Given the description of an element on the screen output the (x, y) to click on. 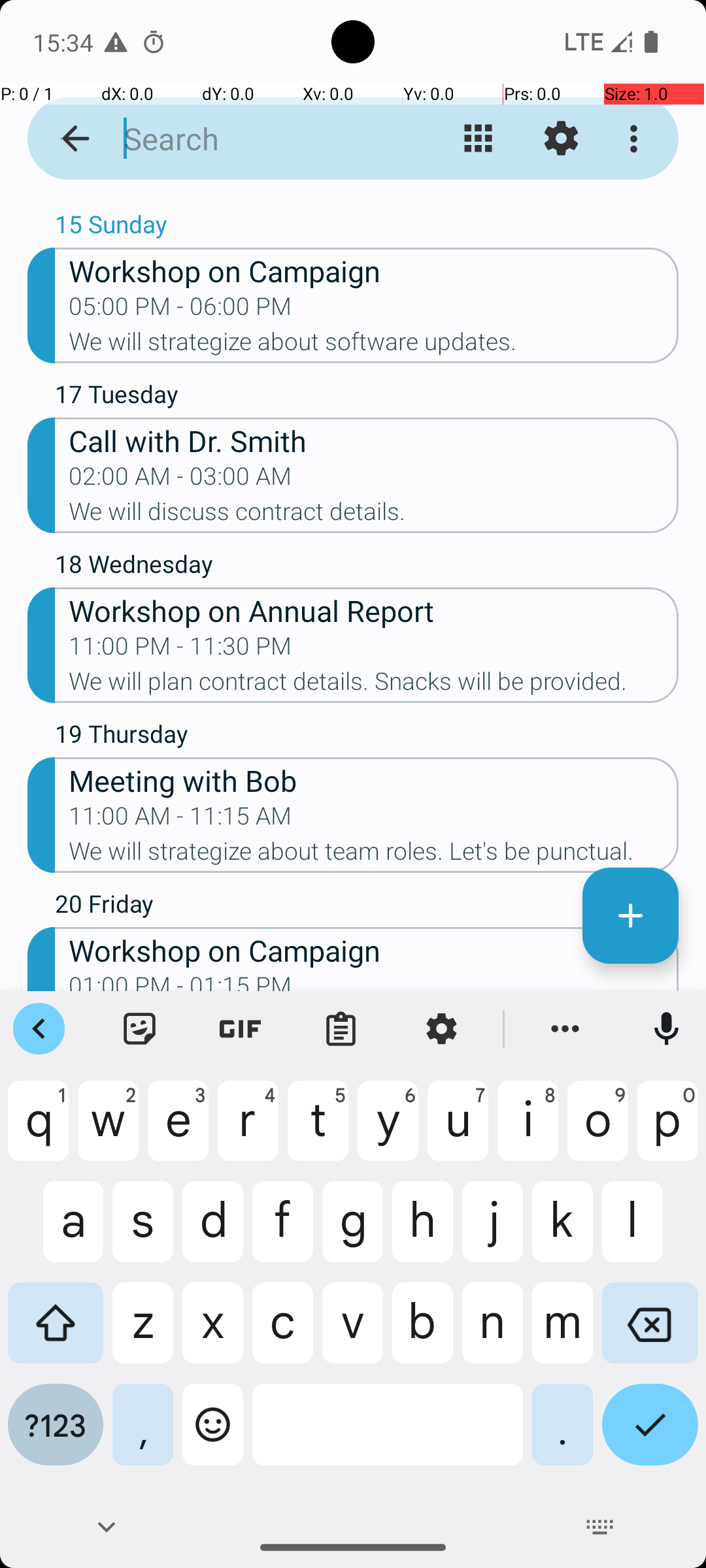
OCTOBER Element type: android.widget.TextView (353, 200)
15 Sunday Element type: android.widget.TextView (366, 227)
17 Tuesday Element type: android.widget.TextView (366, 396)
18 Wednesday Element type: android.widget.TextView (366, 566)
19 Thursday Element type: android.widget.TextView (366, 736)
20 Friday Element type: android.widget.TextView (366, 906)
Workshop on Campaign Element type: android.widget.TextView (373, 269)
05:00 PM - 06:00 PM Element type: android.widget.TextView (179, 309)
We will strategize about software updates. Element type: android.widget.TextView (373, 345)
Call with Dr. Smith Element type: android.widget.TextView (373, 439)
02:00 AM - 03:00 AM Element type: android.widget.TextView (179, 479)
We will discuss contract details. Element type: android.widget.TextView (373, 515)
Workshop on Annual Report Element type: android.widget.TextView (373, 609)
11:00 PM - 11:30 PM Element type: android.widget.TextView (179, 649)
We will plan contract details. Snacks will be provided. Element type: android.widget.TextView (373, 684)
Meeting with Bob Element type: android.widget.TextView (373, 779)
11:00 AM - 11:15 AM Element type: android.widget.TextView (179, 819)
We will strategize about team roles. Let's be punctual. Element type: android.widget.TextView (373, 854)
01:00 PM - 01:15 PM Element type: android.widget.TextView (179, 981)
